Given the description of an element on the screen output the (x, y) to click on. 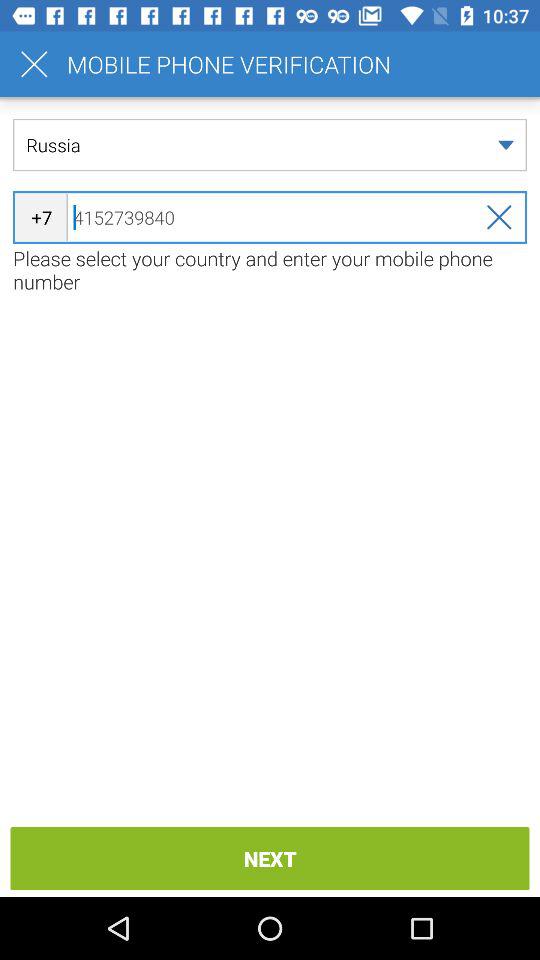
open icon above the please select your item (269, 217)
